Given the description of an element on the screen output the (x, y) to click on. 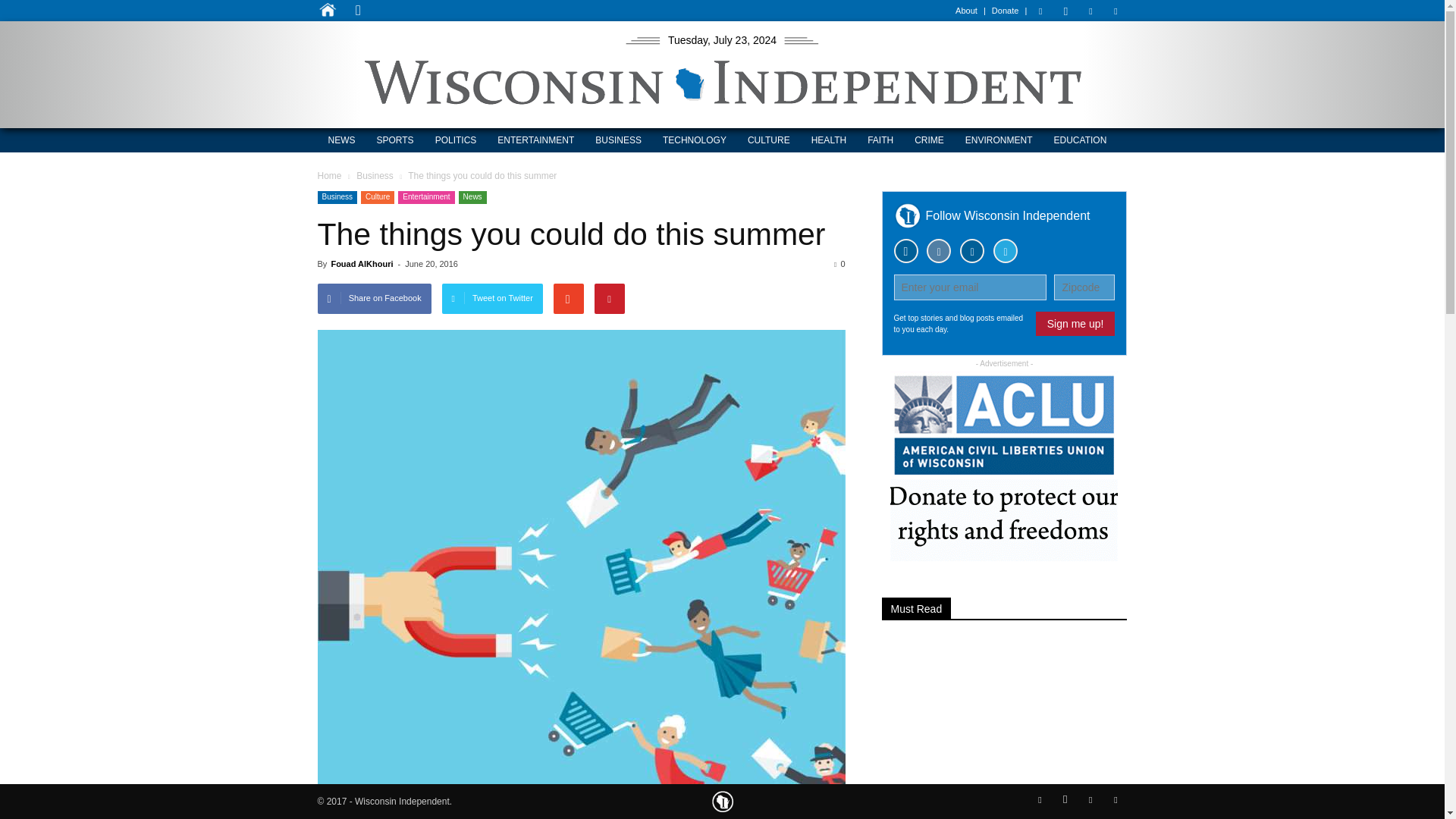
Linkedin (1090, 10)
Instagram (1065, 10)
Search (533, 72)
Twitter (1114, 10)
Sign me up! (1075, 323)
Donate (1004, 10)
View all posts in Business (376, 175)
About (965, 10)
Facebook (1040, 10)
NEWS (341, 139)
